Given the description of an element on the screen output the (x, y) to click on. 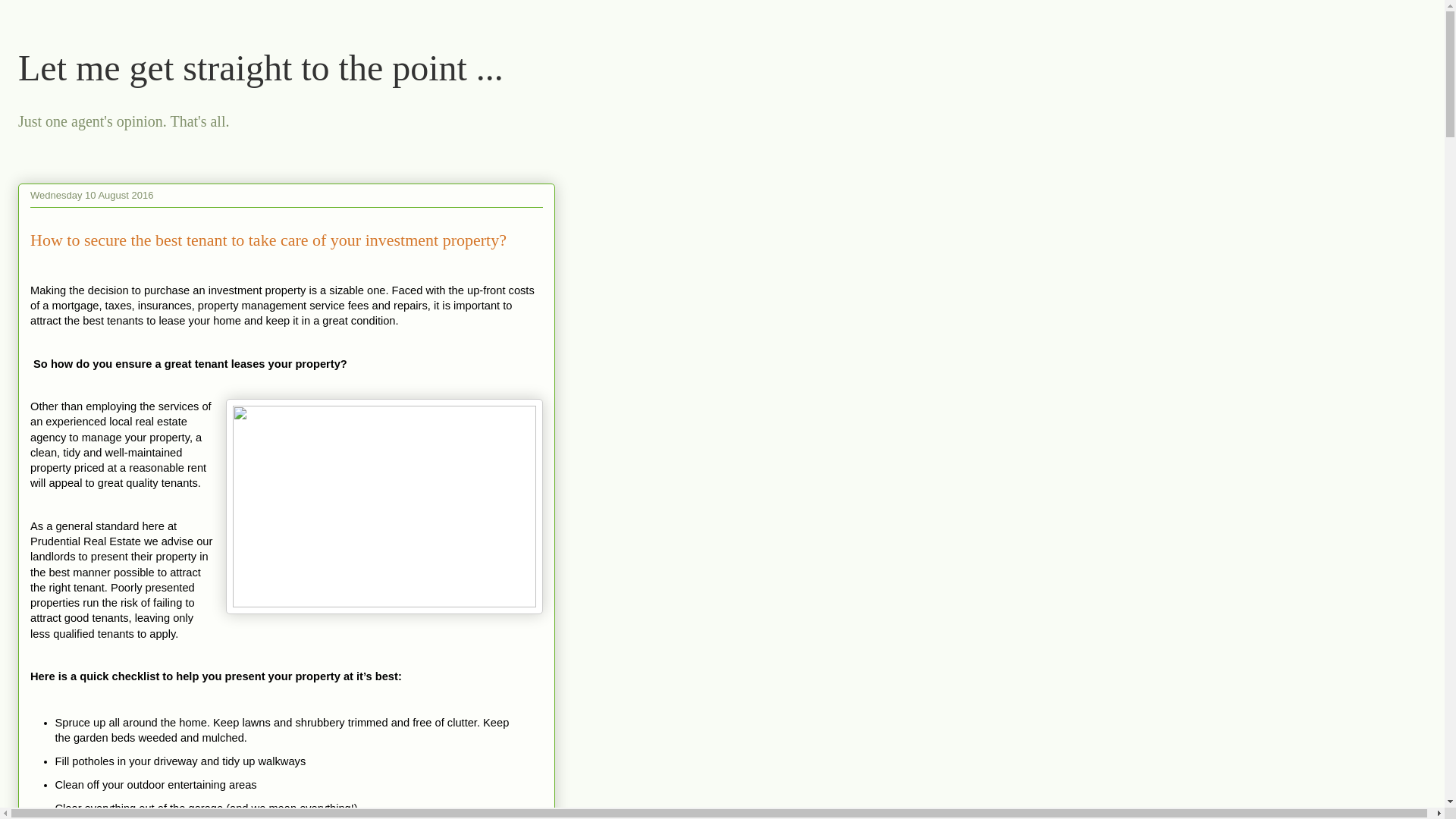
Let me get straight to the point ... Element type: text (260, 67)
